Given the description of an element on the screen output the (x, y) to click on. 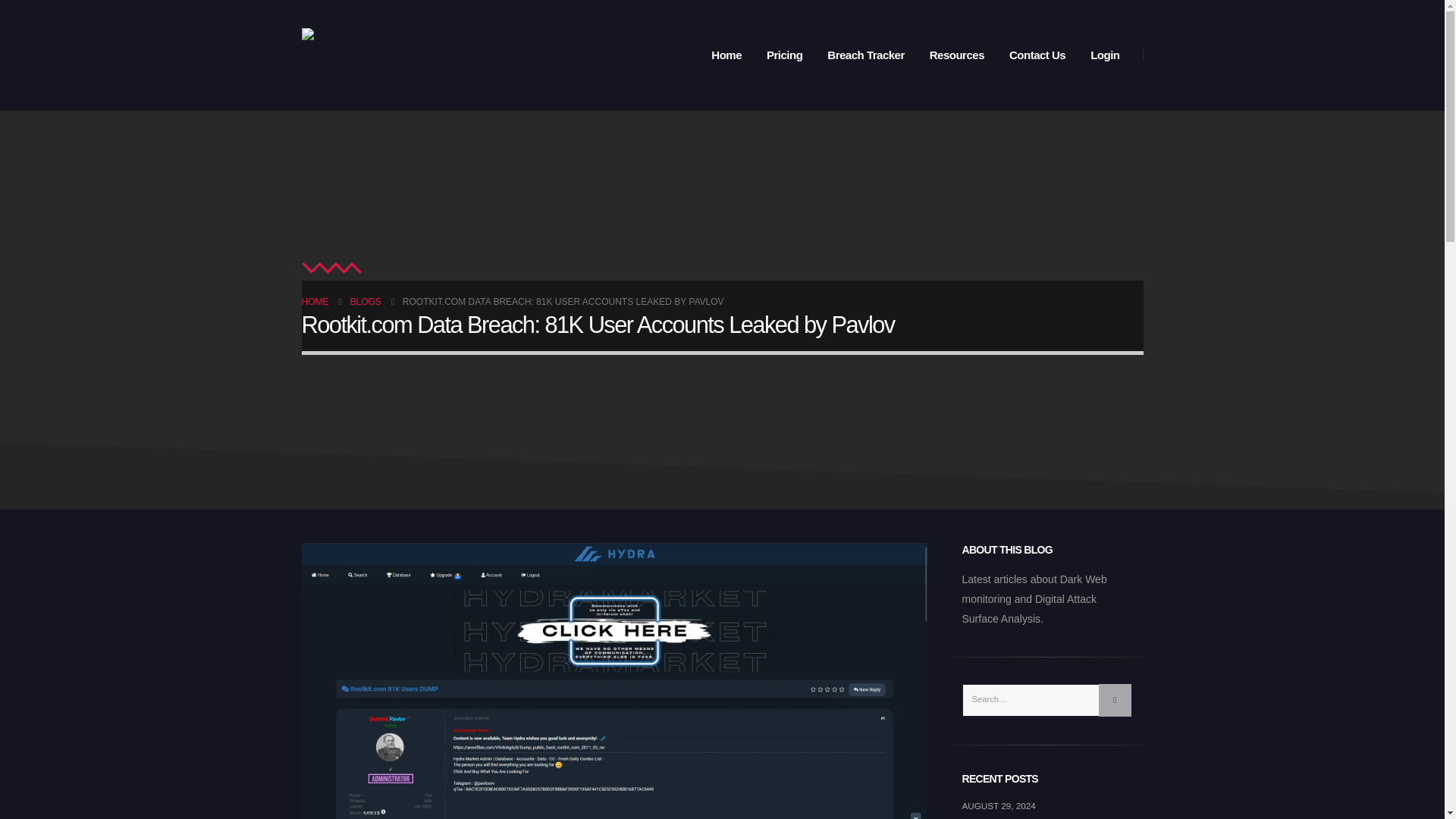
BLOGS (365, 301)
HOME (315, 301)
Go to Home Page (315, 301)
Breach Tracker (865, 55)
Resources (956, 55)
Contact Us (1037, 55)
